Given the description of an element on the screen output the (x, y) to click on. 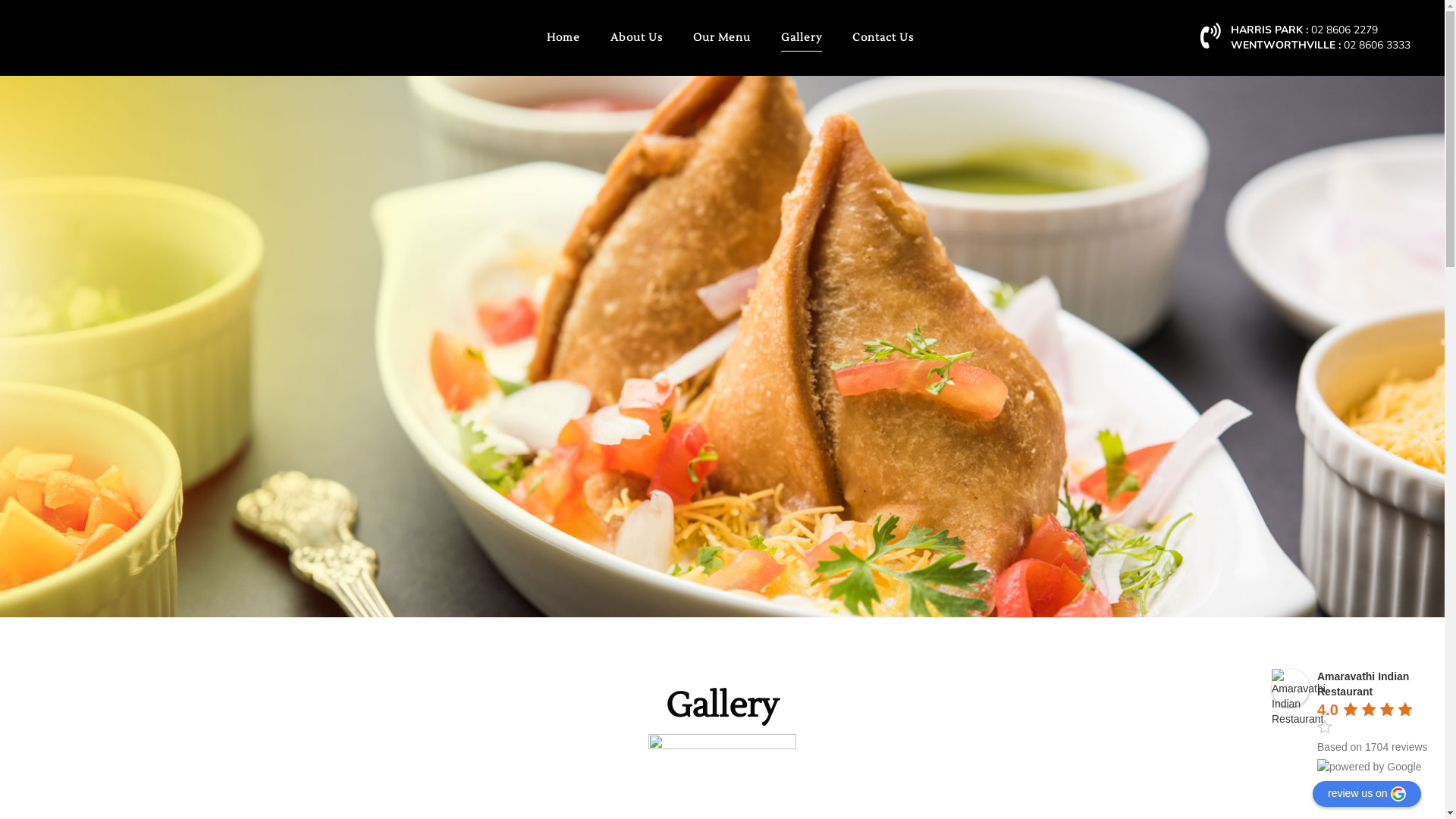
Gallery Element type: text (801, 37)
powered by Google Element type: hover (1369, 766)
review us on Element type: text (1366, 793)
Our Menu Element type: text (721, 37)
Contact Us Element type: text (875, 37)
Amaravathi Indian Restaurant Element type: hover (1290, 687)
Home Element type: text (562, 37)
About Us Element type: text (635, 37)
Amaravathi Indian Restaurant Element type: text (1362, 683)
